Given the description of an element on the screen output the (x, y) to click on. 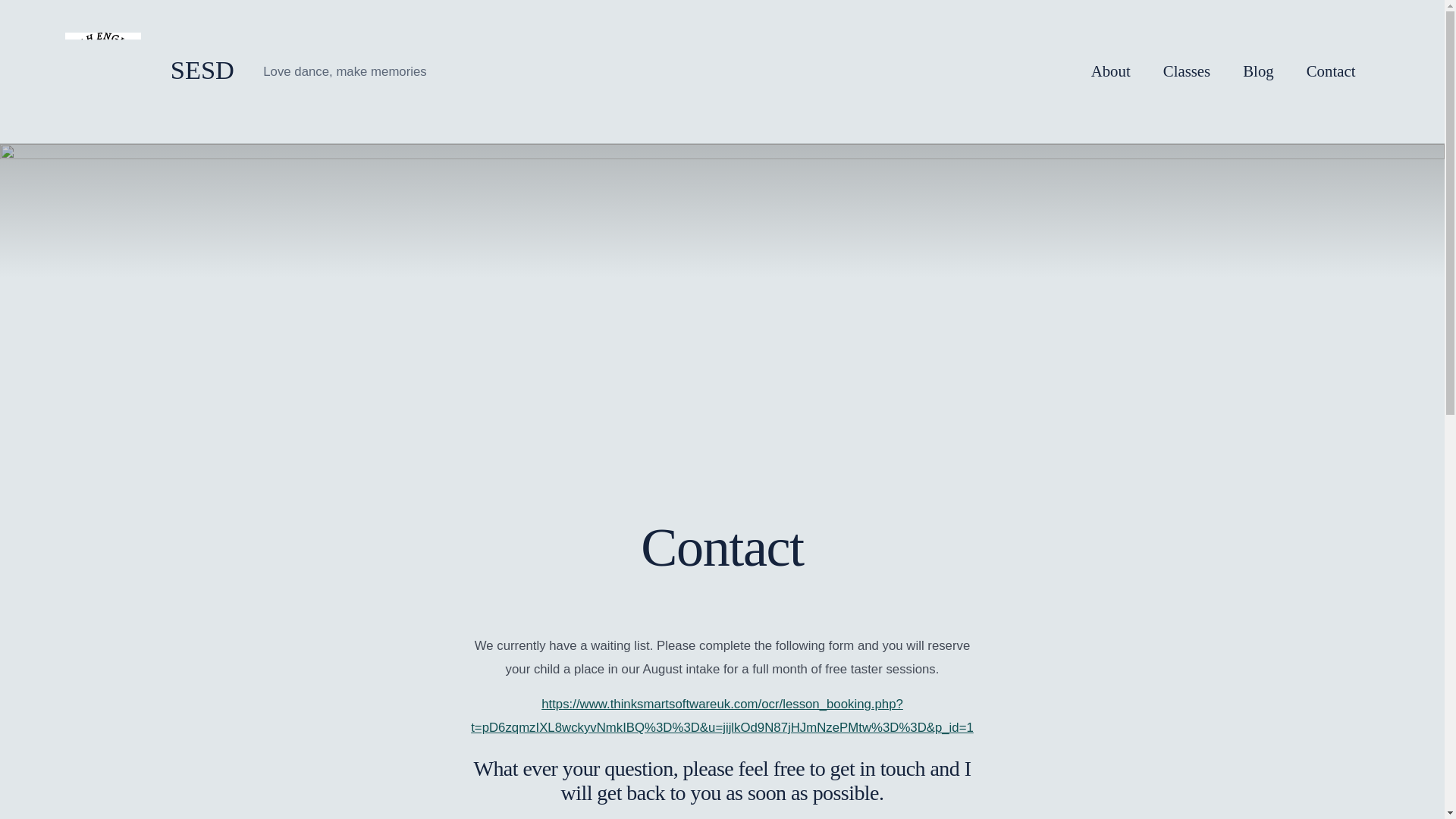
Blog (1257, 70)
SESD (187, 71)
Contact (1330, 70)
Classes (1186, 70)
About (1110, 70)
